Given the description of an element on the screen output the (x, y) to click on. 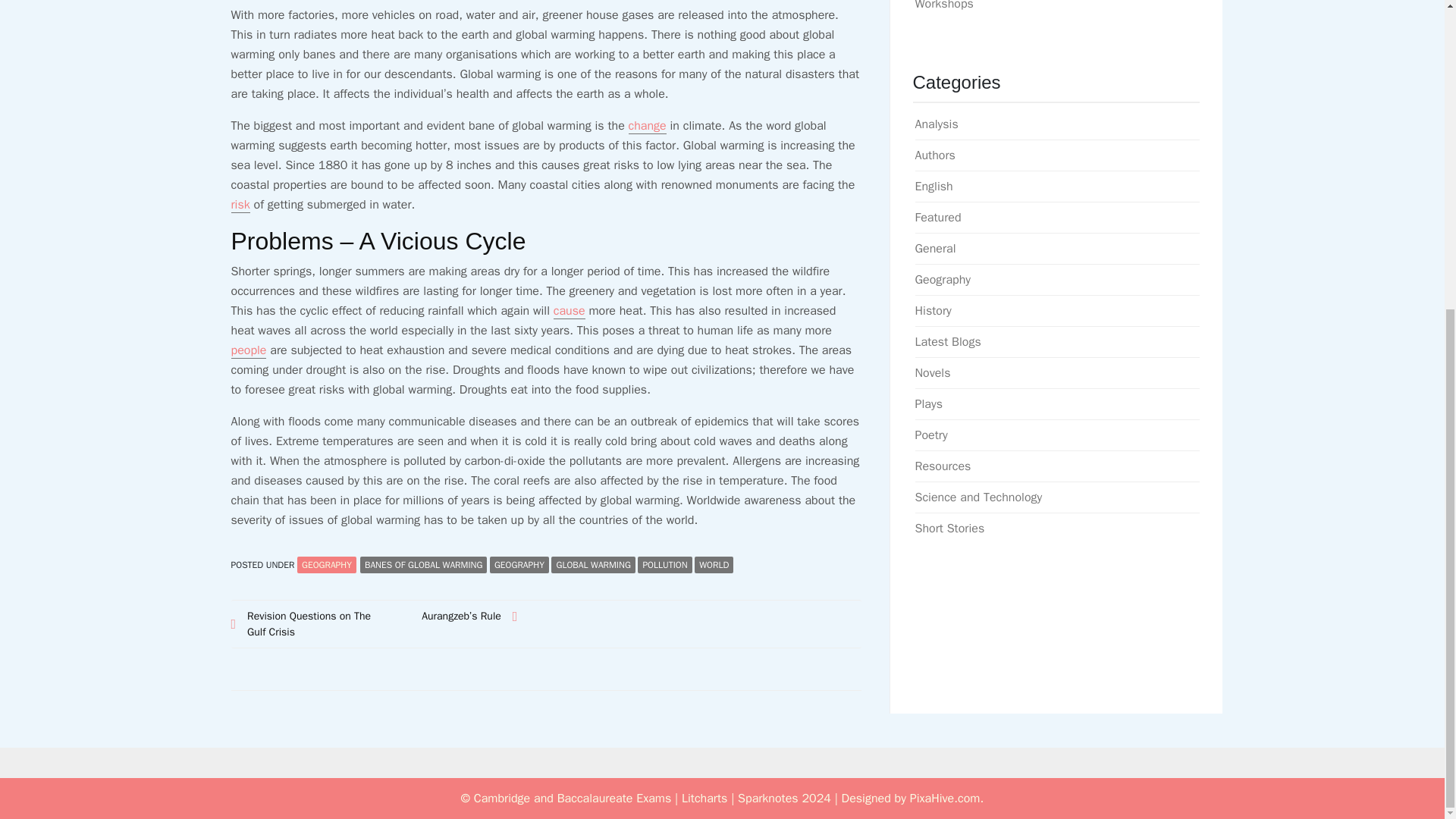
WORLD (713, 564)
people (248, 350)
cause (569, 311)
risk (239, 204)
GLOBAL WARMING (592, 564)
GEOGRAPHY (326, 564)
BANES OF GLOBAL WARMING (422, 564)
GEOGRAPHY (518, 564)
Revision Questions on The Gulf Crisis (302, 623)
change (647, 125)
